Given the description of an element on the screen output the (x, y) to click on. 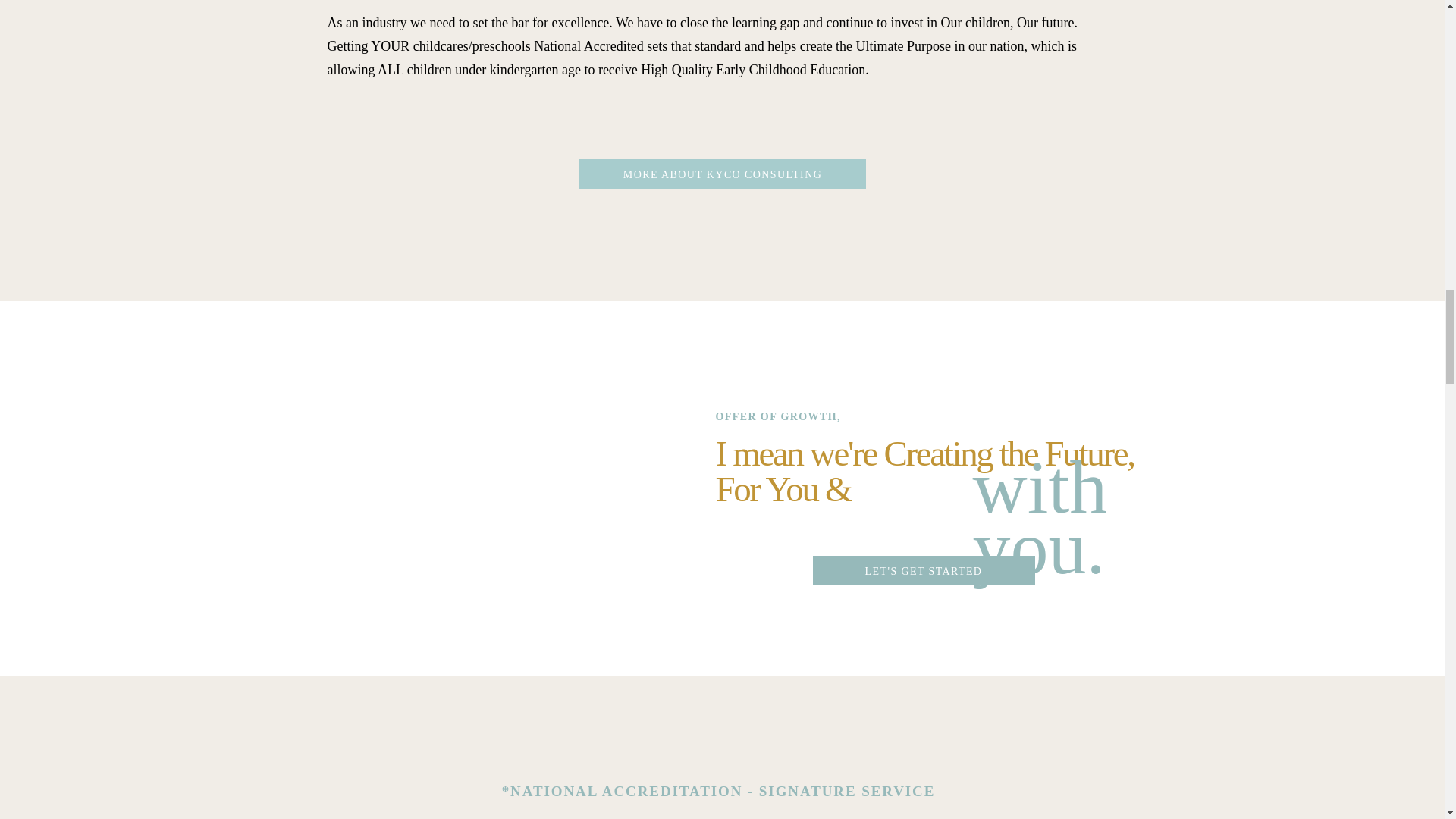
LET'S GET STARTED (923, 573)
OFFER OF GROWTH, (812, 418)
MORE ABOUT KYCO CONSULTING (722, 177)
